Given the description of an element on the screen output the (x, y) to click on. 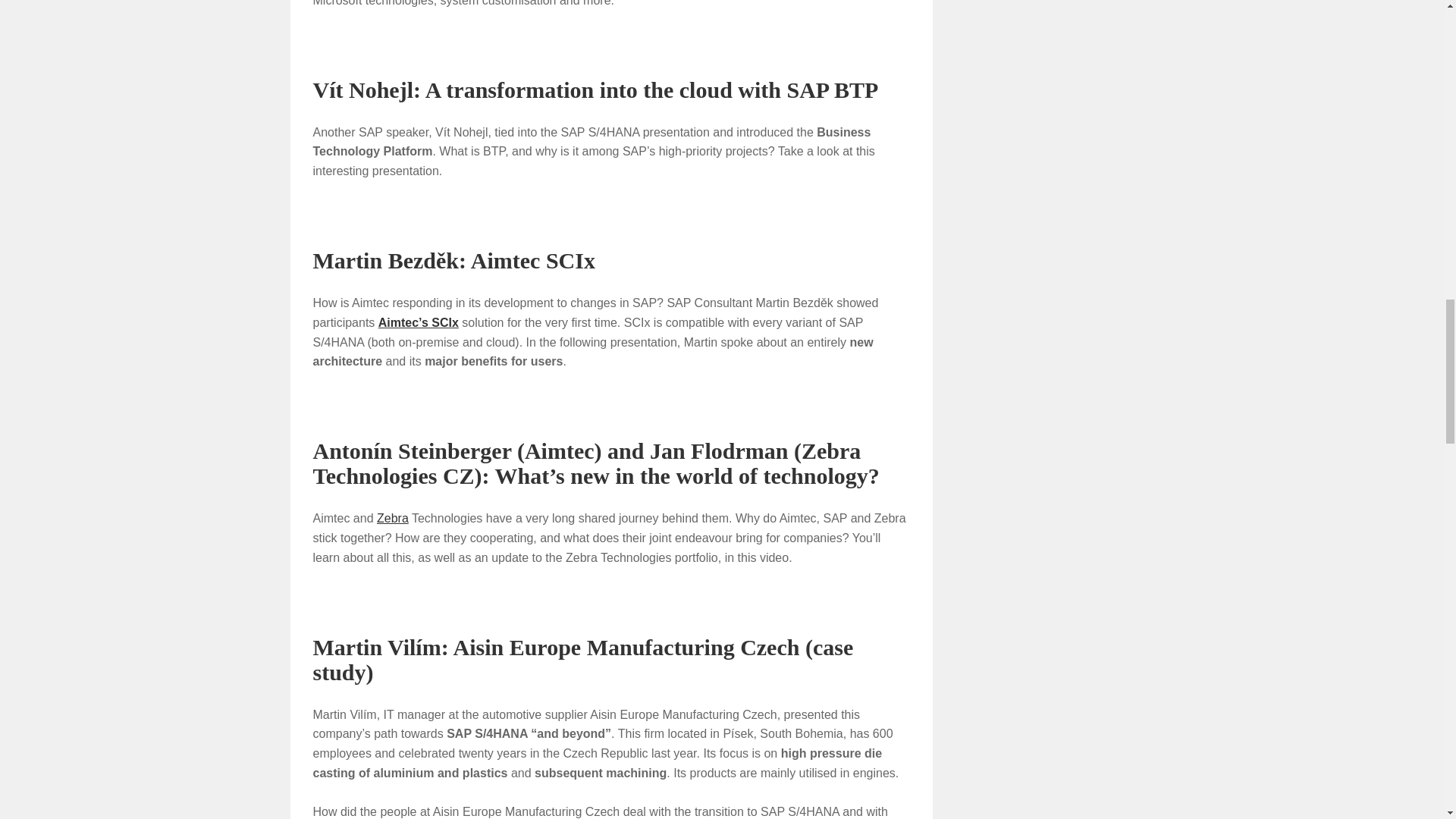
Zebra  (393, 517)
Zebra (393, 517)
SAP Solution Extensions (418, 322)
